Given the description of an element on the screen output the (x, y) to click on. 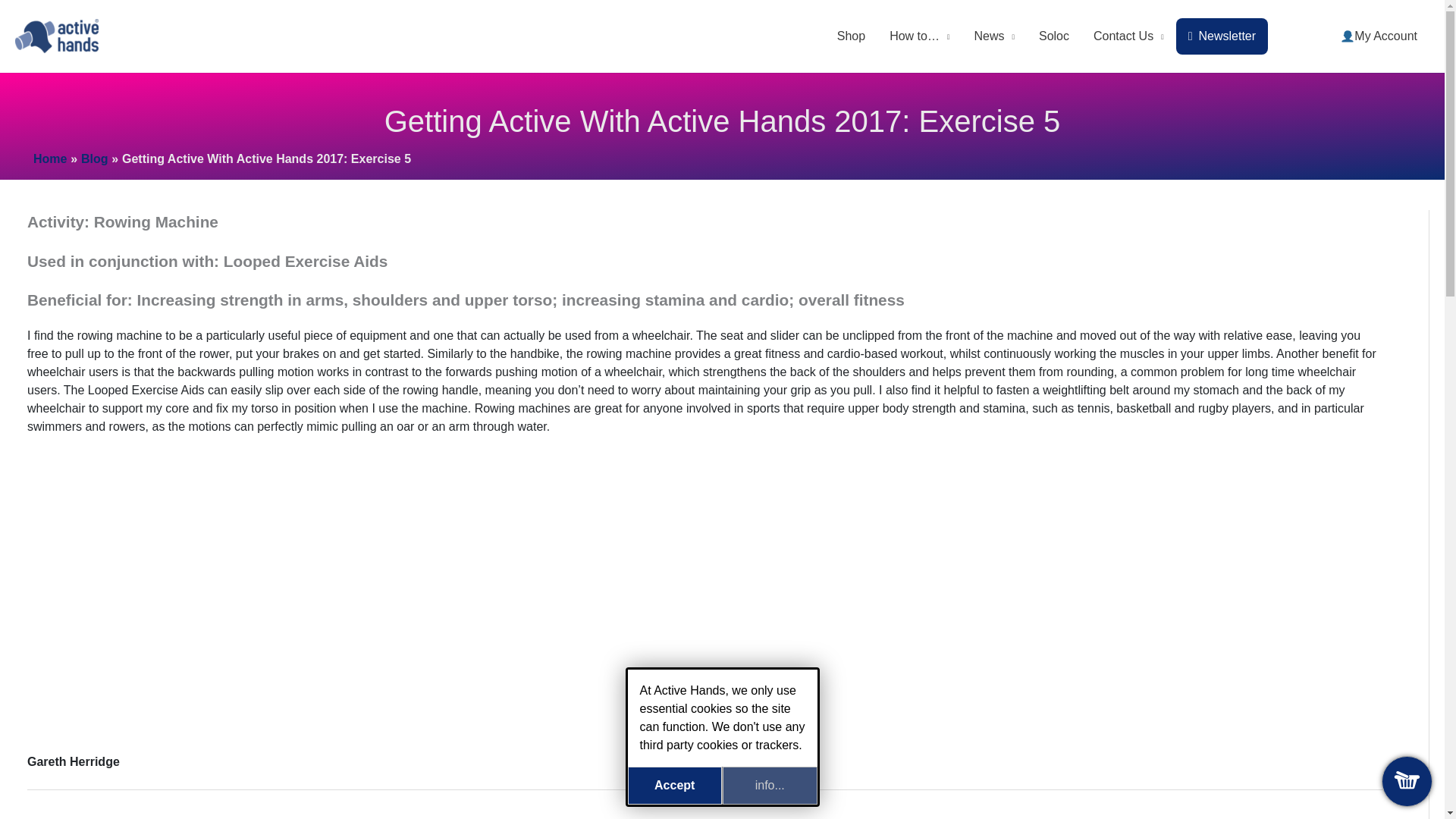
Buy gripping aids from Active Hands (851, 36)
Shop (851, 36)
View my basket (1406, 780)
Home (49, 158)
News (993, 36)
Contact Us (1128, 36)
Soloc (1053, 36)
My Account (1378, 36)
Get in touch via email, phone or form (1128, 36)
Newsletter (1222, 36)
Blog (94, 158)
Get all the latest from Active Hands (993, 36)
